Given the description of an element on the screen output the (x, y) to click on. 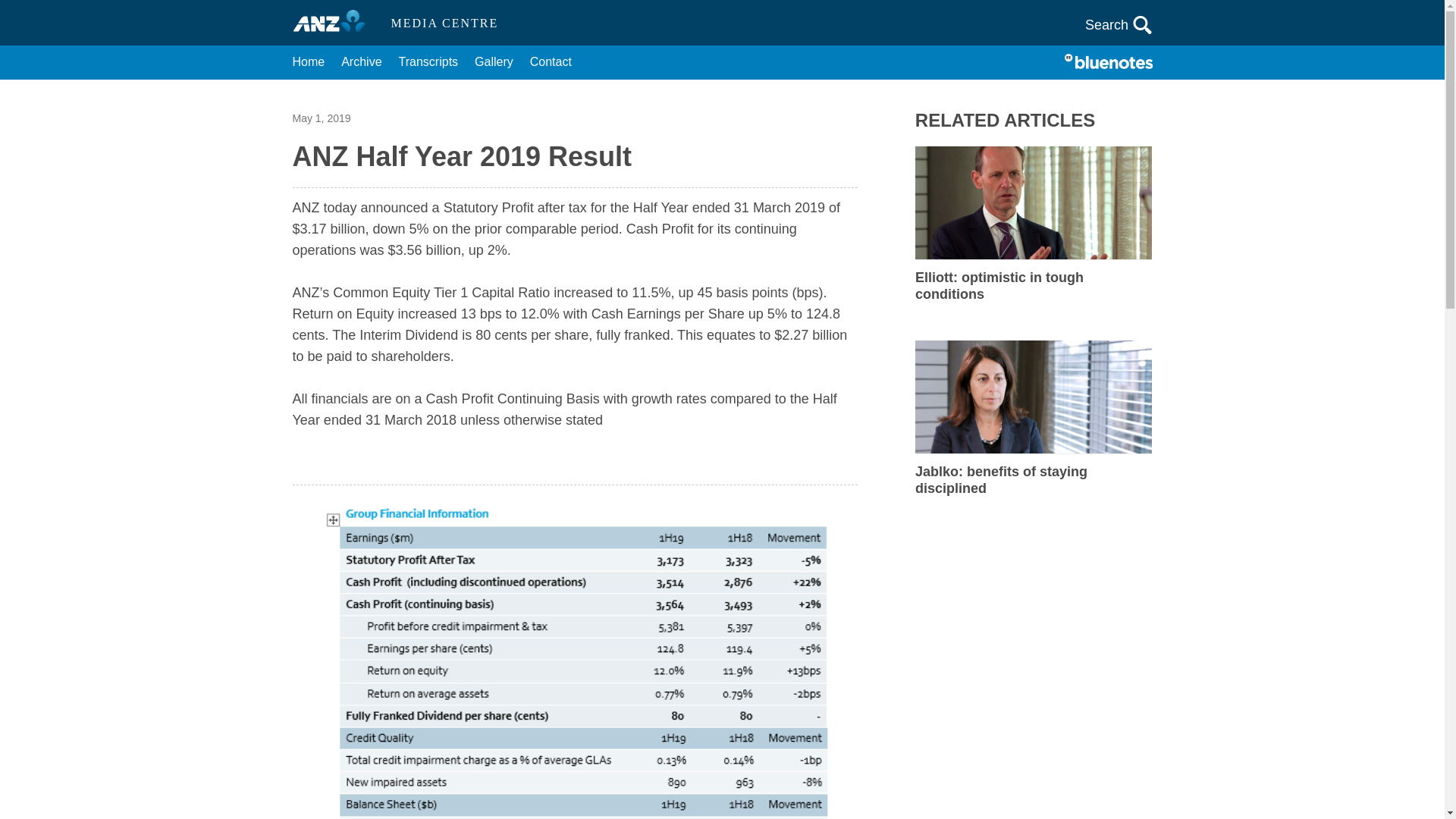
Archive (360, 62)
Jablko: benefits of staying disciplined (1033, 479)
Transcripts (428, 62)
ANZ Logo (335, 22)
Elliott: optimistic in tough conditions  (1033, 285)
Gallery (493, 62)
Search (1118, 24)
Elliott: optimistic in tough conditions (1033, 285)
Home (308, 62)
Jablko: benefits of staying disciplined (1033, 479)
Media Centre Homepage (335, 22)
Contact (550, 62)
